Given the description of an element on the screen output the (x, y) to click on. 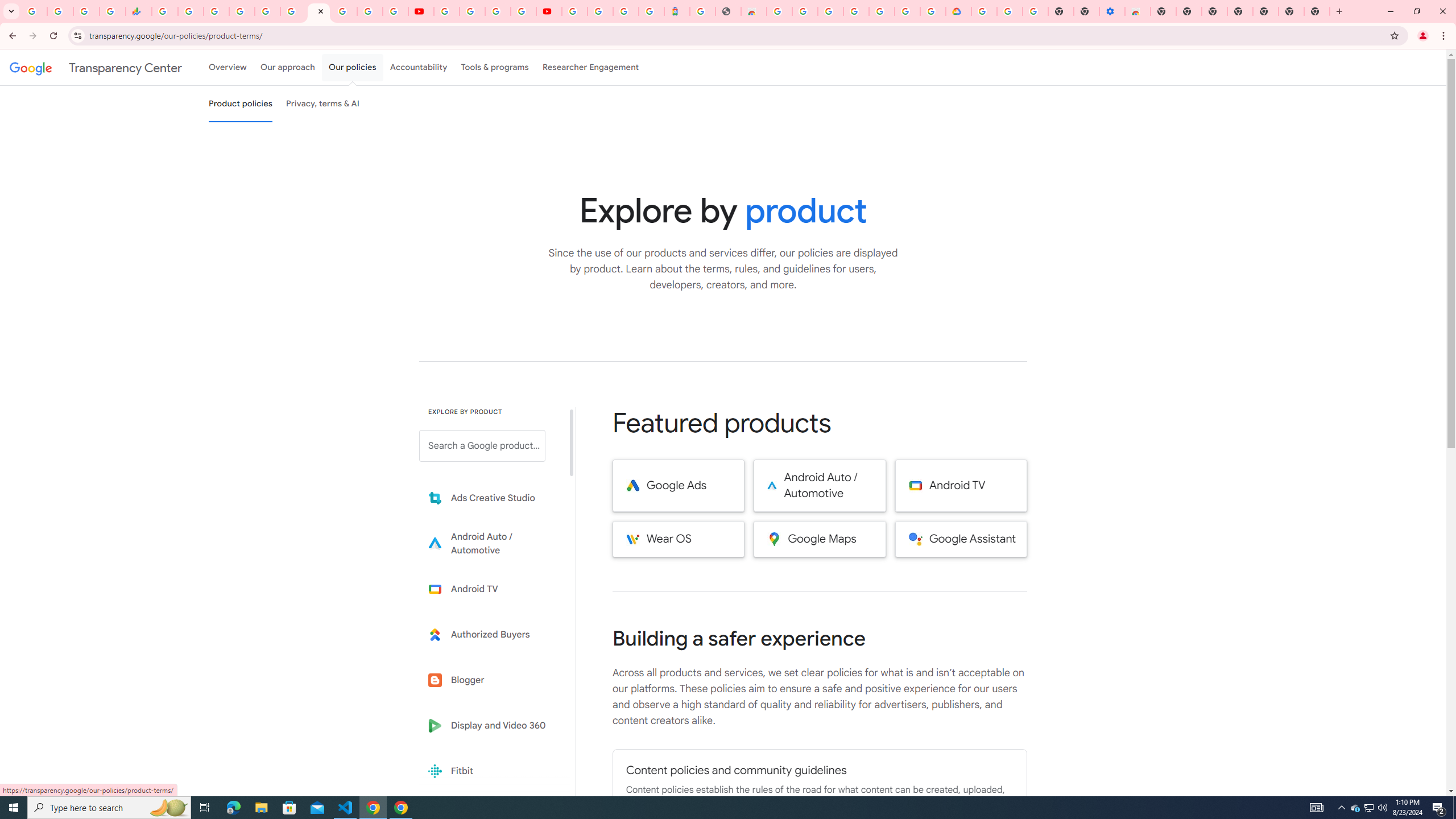
New Tab (1162, 11)
Display and Video 360 (490, 725)
Settings - Accessibility (1111, 11)
Blogger (490, 679)
Learn more about Android Auto (490, 543)
Researcher Engagement (590, 67)
Turn cookies on or off - Computer - Google Account Help (1034, 11)
Sign in - Google Accounts (574, 11)
